Given the description of an element on the screen output the (x, y) to click on. 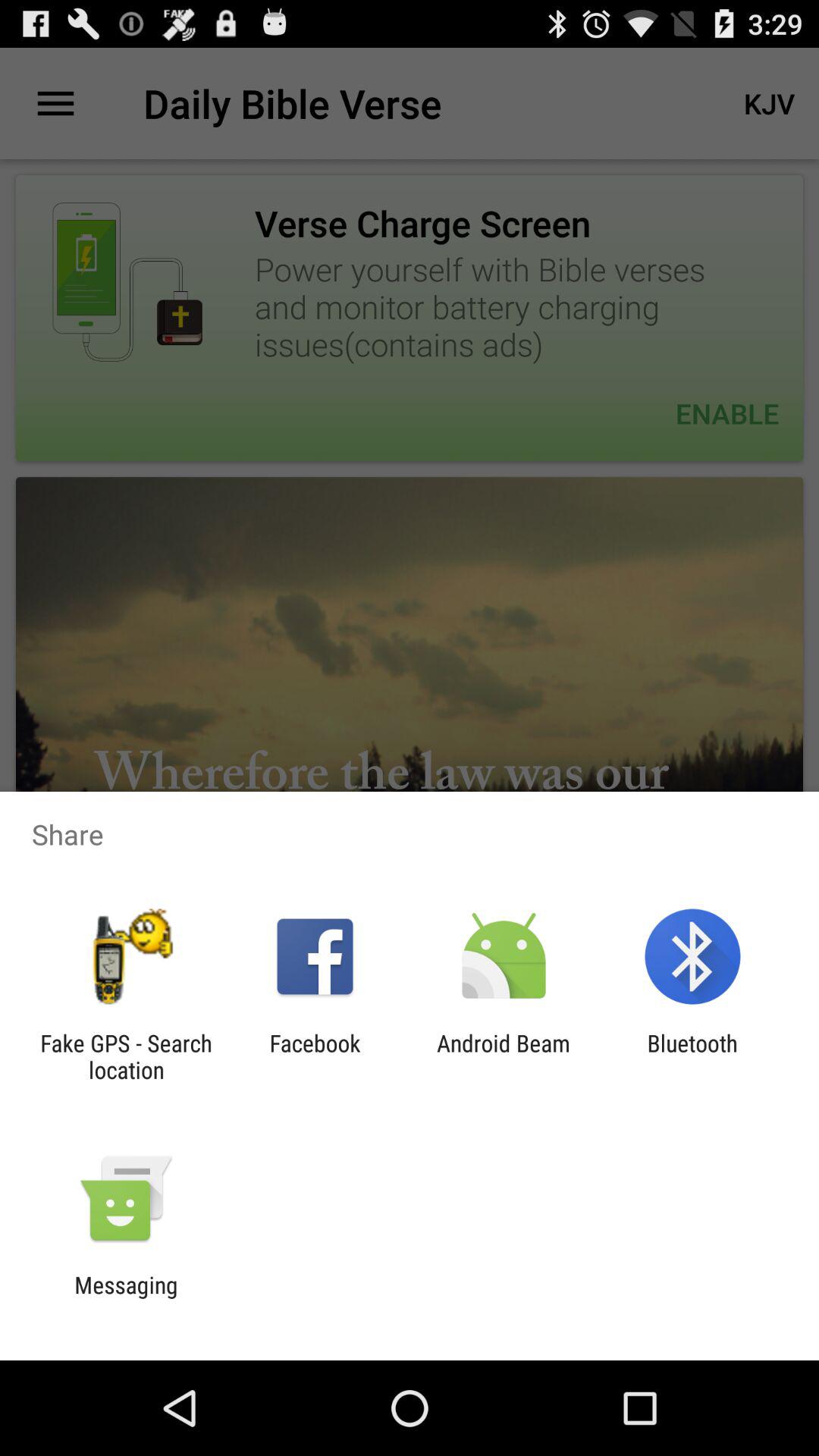
tap icon next to facebook (503, 1056)
